Given the description of an element on the screen output the (x, y) to click on. 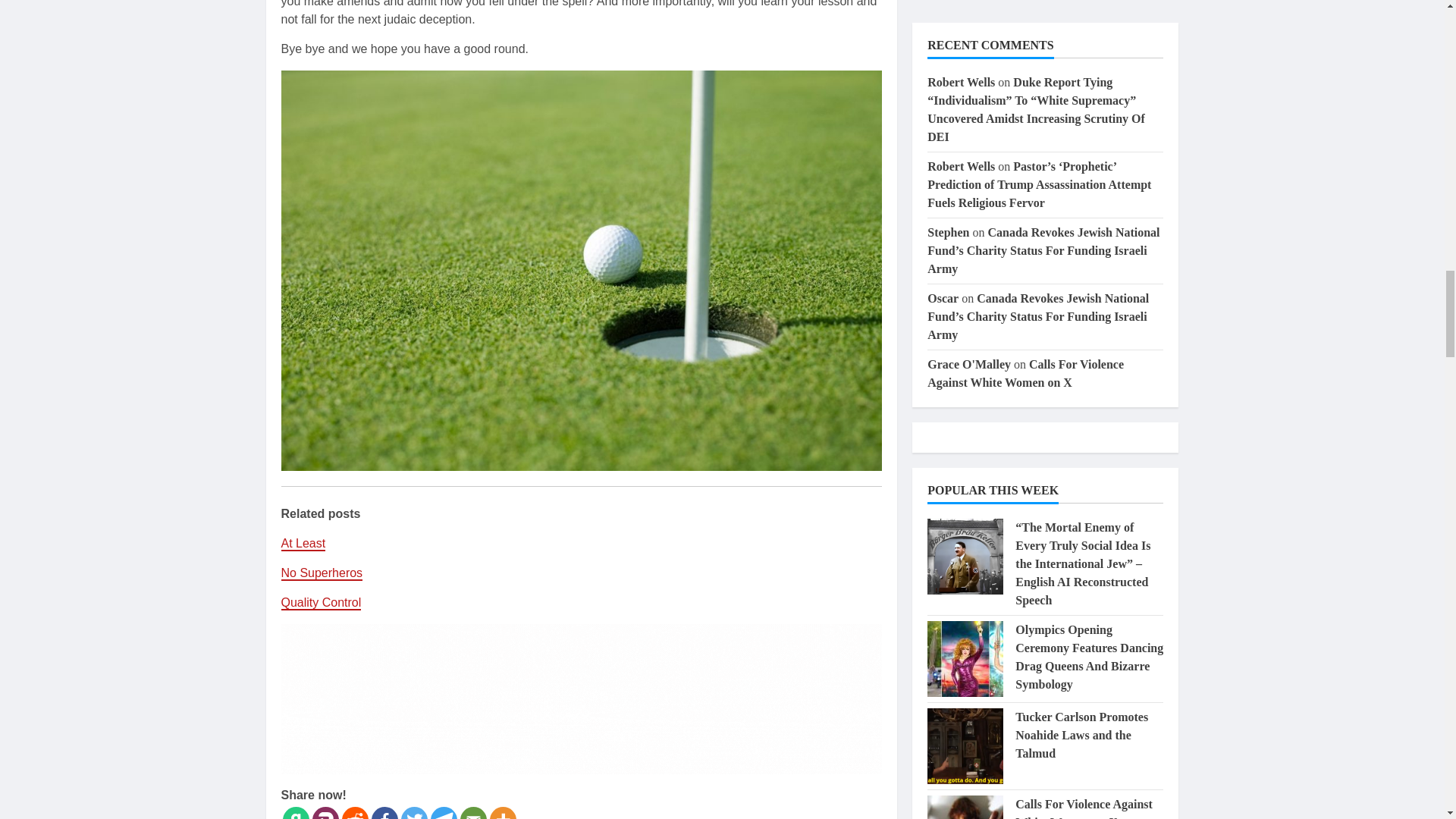
More (502, 812)
Facebook (384, 812)
Telegram (443, 812)
Reddit (354, 812)
Email (473, 812)
Gab (295, 812)
Quality Control (321, 603)
Twitter (413, 812)
At Least (302, 544)
Parler (326, 812)
No Superheros (321, 573)
